Given the description of an element on the screen output the (x, y) to click on. 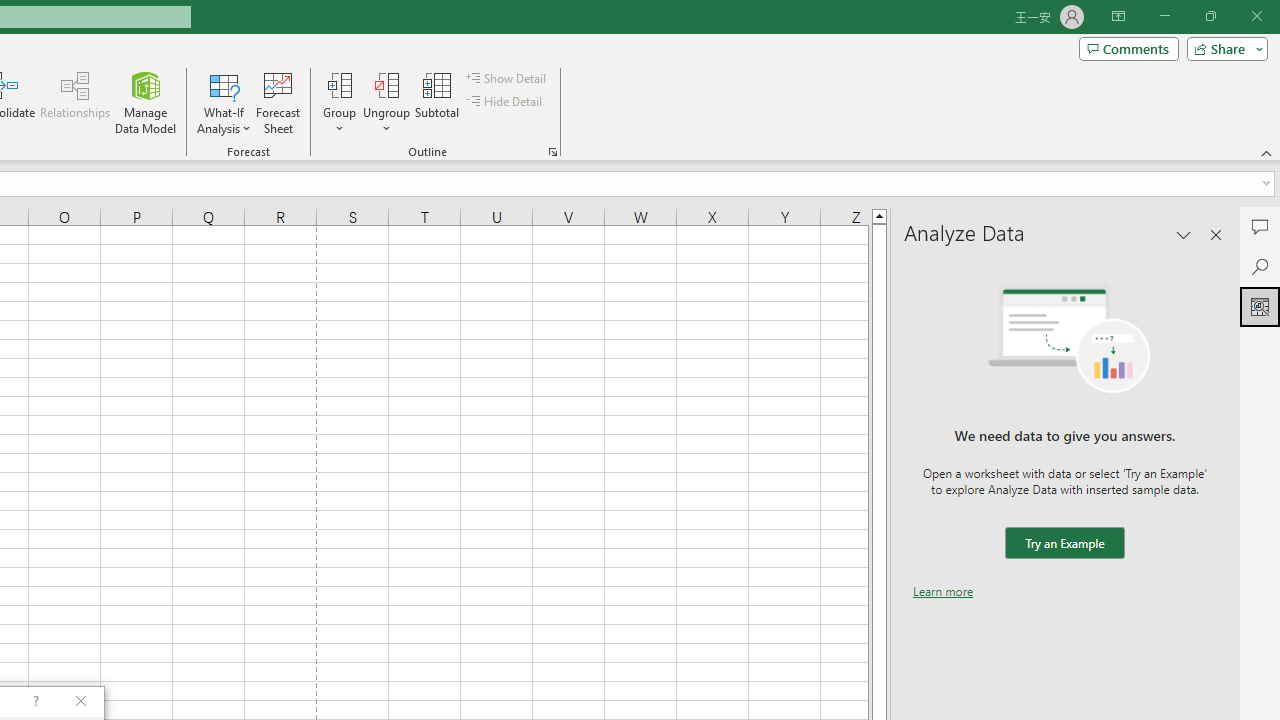
Group and Outline Settings (552, 151)
We need data to give you answers. Try an Example (1064, 543)
Relationships (75, 102)
Analyze Data (1260, 306)
Subtotal (437, 102)
Forecast Sheet (278, 102)
Learn more (943, 591)
Manage Data Model (145, 102)
